Given the description of an element on the screen output the (x, y) to click on. 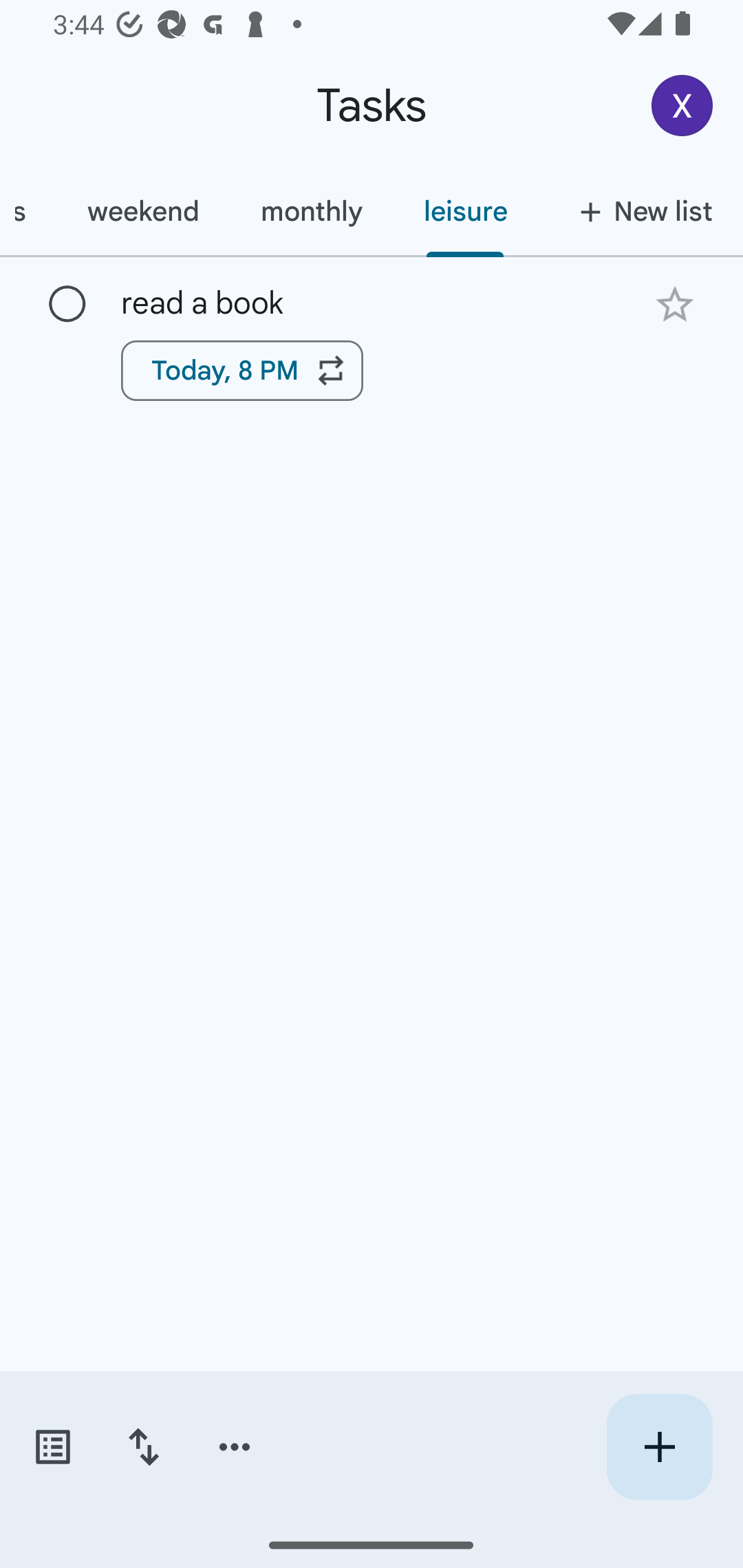
weekend (142, 211)
monthly (311, 211)
New list (640, 211)
Add star (674, 303)
Mark as complete (67, 304)
Today, 8 PM (242, 369)
Switch task lists (52, 1447)
Create new task (659, 1446)
Change sort order (143, 1446)
More options (234, 1446)
